Given the description of an element on the screen output the (x, y) to click on. 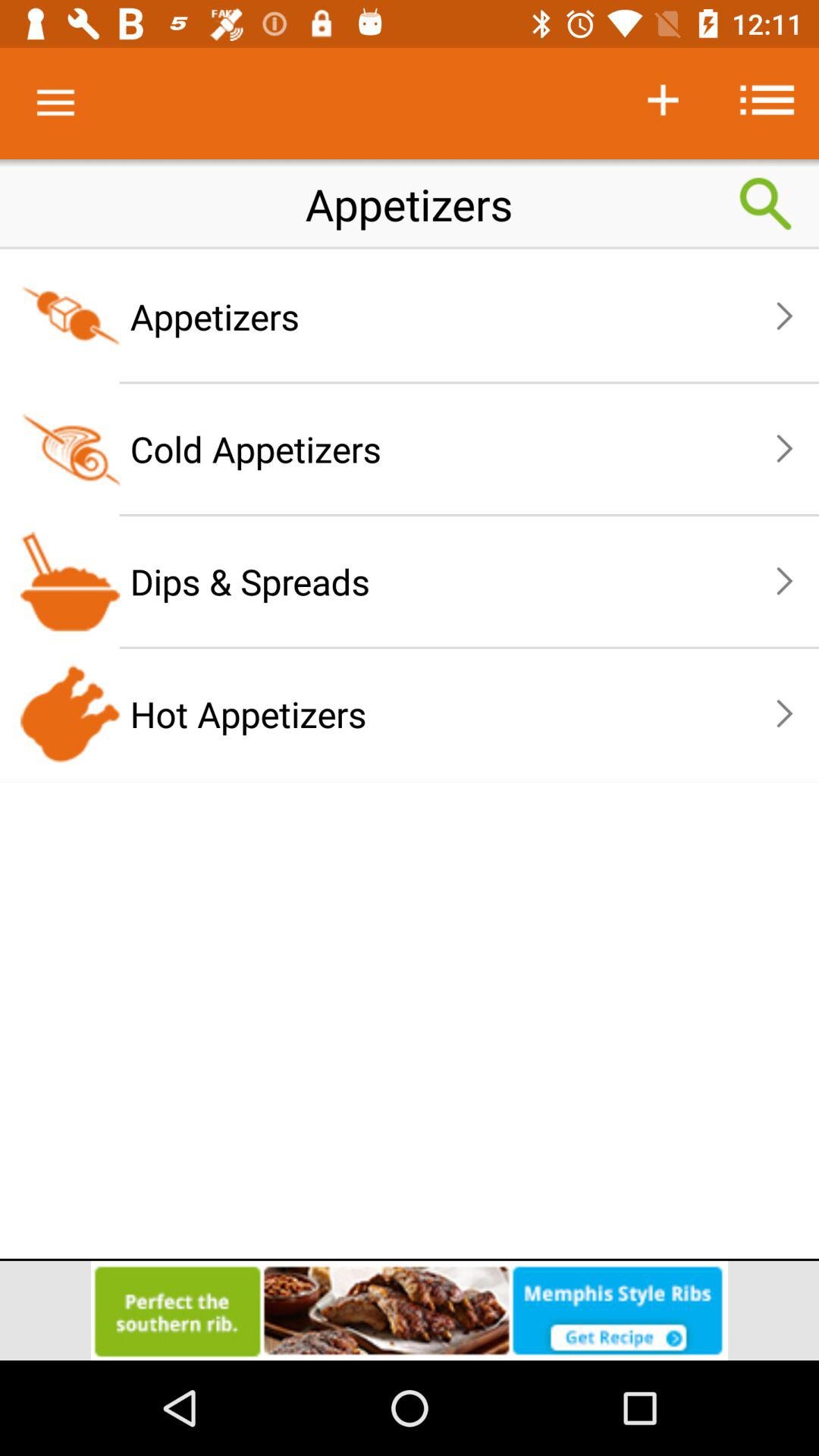
open advertisement (409, 1310)
